Given the description of an element on the screen output the (x, y) to click on. 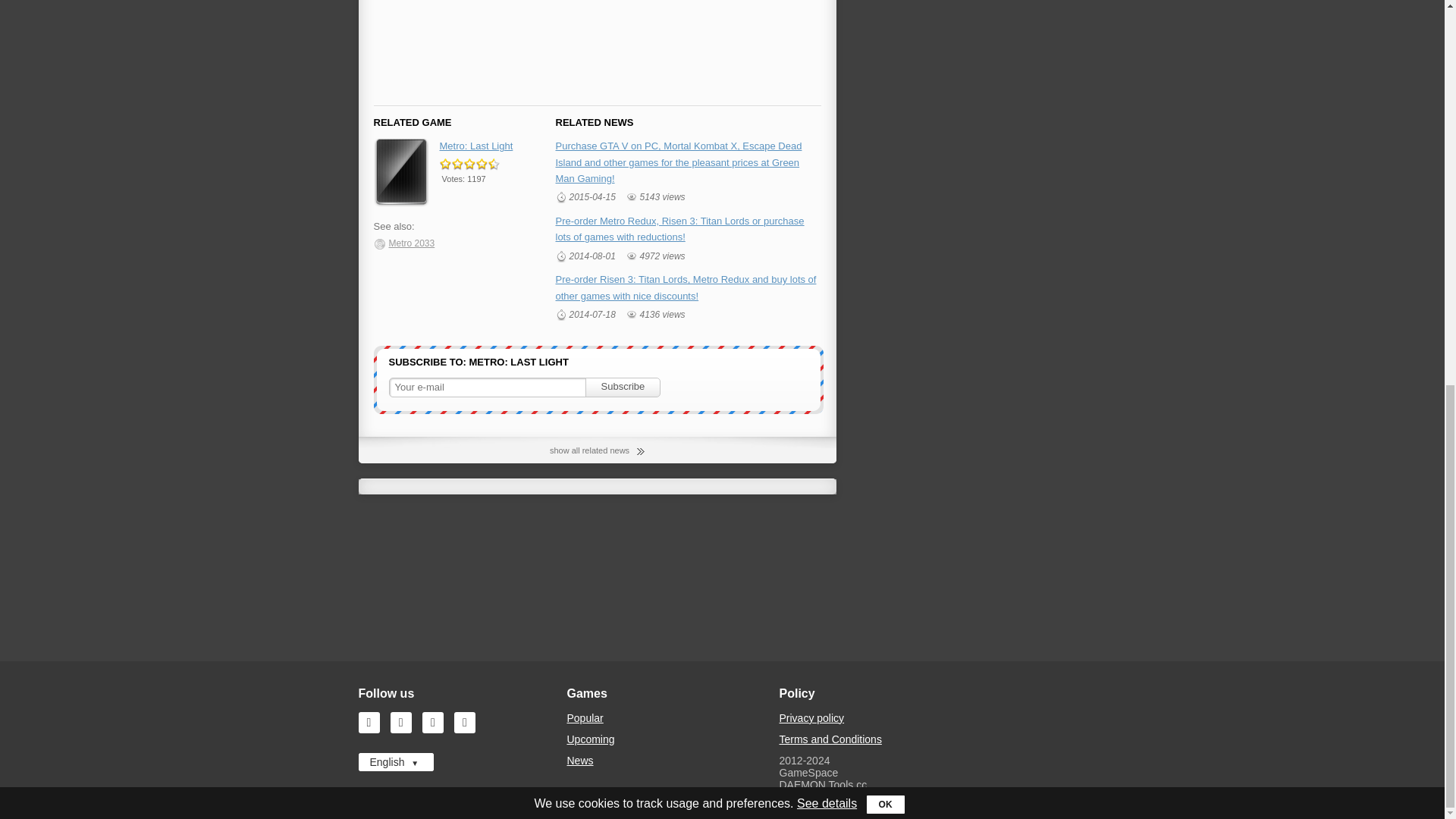
Metro 2033 (402, 243)
Metro: Last Light (476, 145)
show all related news (597, 450)
OK (885, 78)
Your e-mail (490, 387)
Subscribe (623, 387)
Metro: Last Light  (476, 145)
